Given the description of an element on the screen output the (x, y) to click on. 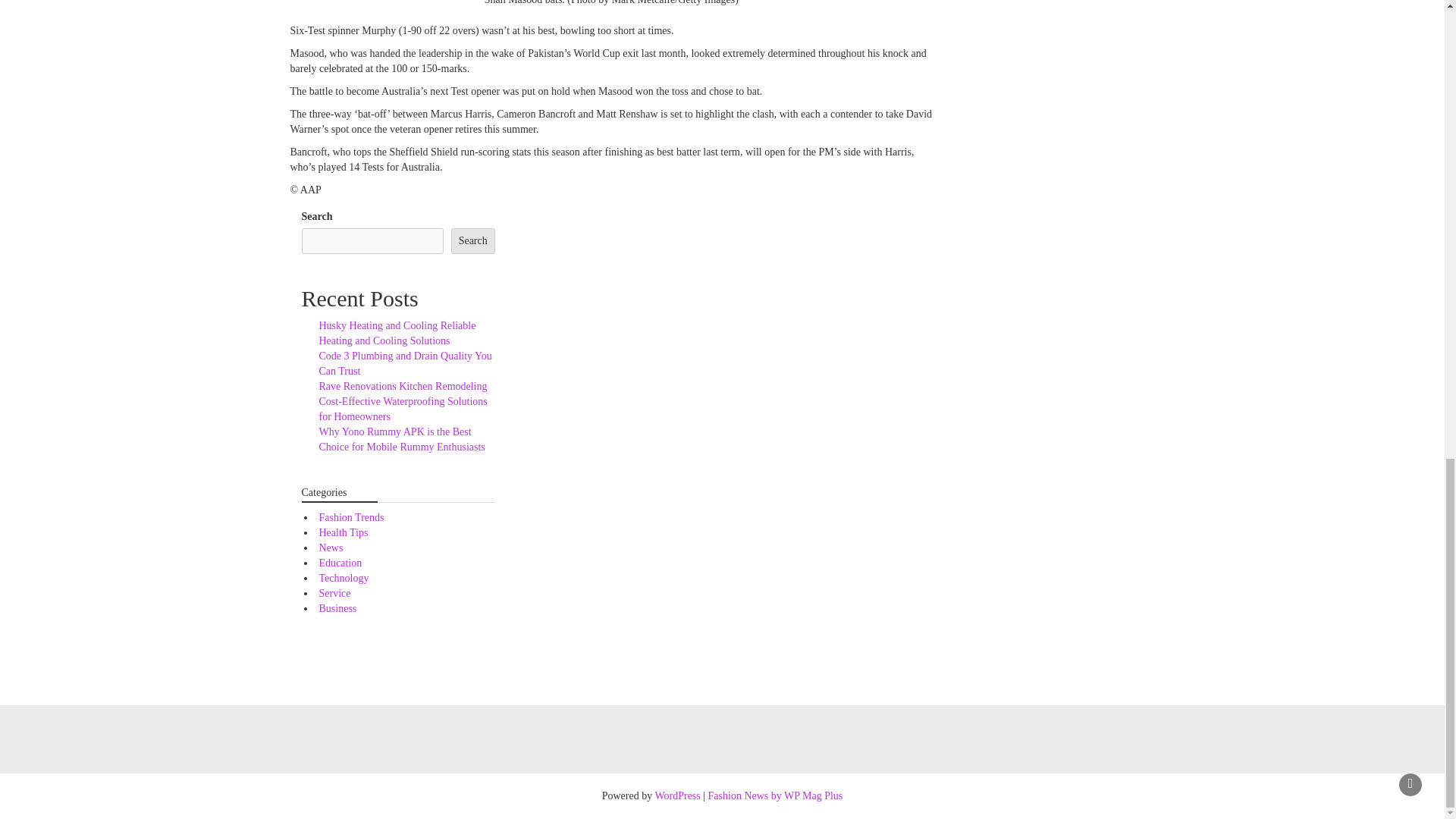
WordPress (676, 795)
Health Tips (343, 532)
Code 3 Plumbing and Drain Quality You Can Trust (405, 363)
Search (473, 240)
Business (337, 608)
Technology (343, 577)
Fashion News by WP Mag Plus (775, 795)
Education (339, 562)
